Given the description of an element on the screen output the (x, y) to click on. 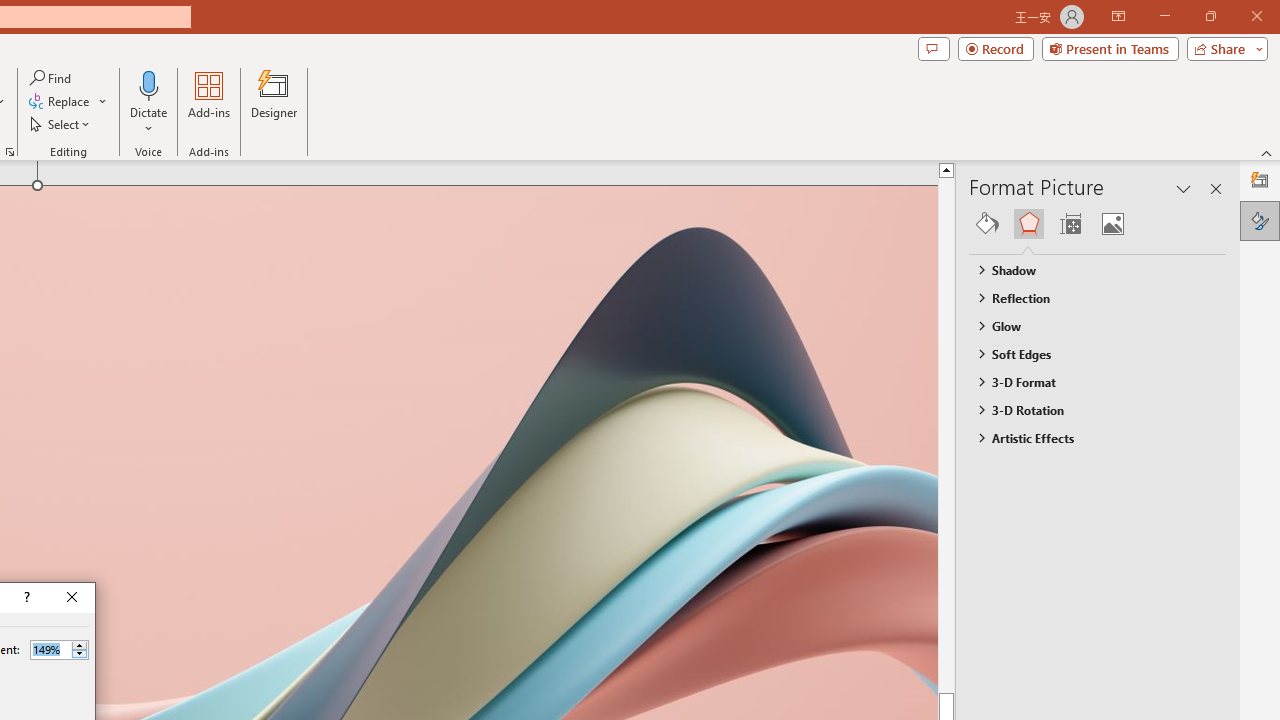
3-D Format (1088, 381)
Size & Properties (1070, 223)
Soft Edges (1088, 353)
Reflection (1088, 297)
Percent (50, 649)
Effects (1028, 223)
Percent (59, 650)
